Given the description of an element on the screen output the (x, y) to click on. 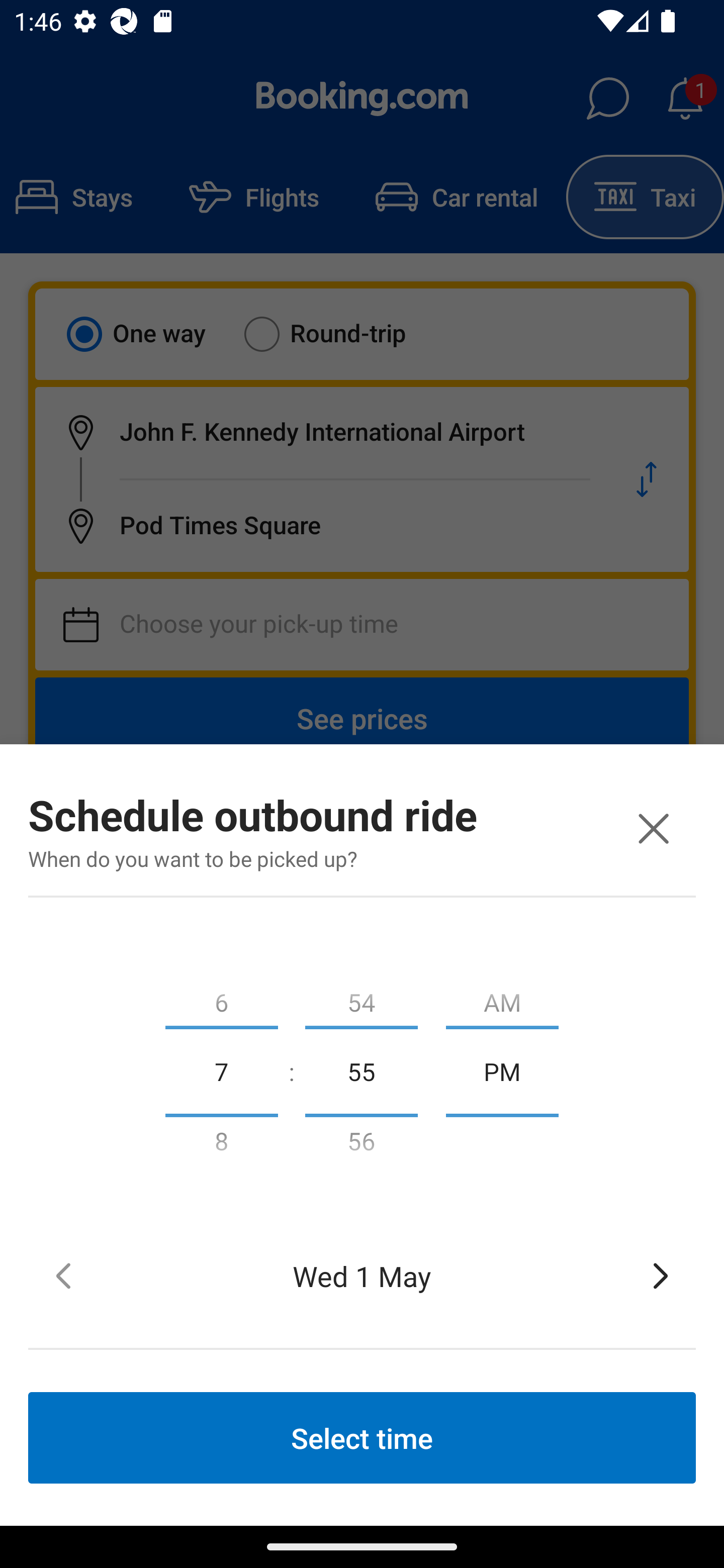
Close window (653, 828)
6 (221, 997)
54 (361, 997)
AM (501, 997)
7 (221, 1070)
55 (361, 1070)
PM (501, 1070)
8 (221, 1144)
56 (361, 1144)
Tap to move back to the previous date (63, 1275)
Tap to move forward to the next date (660, 1275)
Wed 1 May Selected date, Wednesday, 1 May (361, 1275)
Select time (361, 1437)
